Given the description of an element on the screen output the (x, y) to click on. 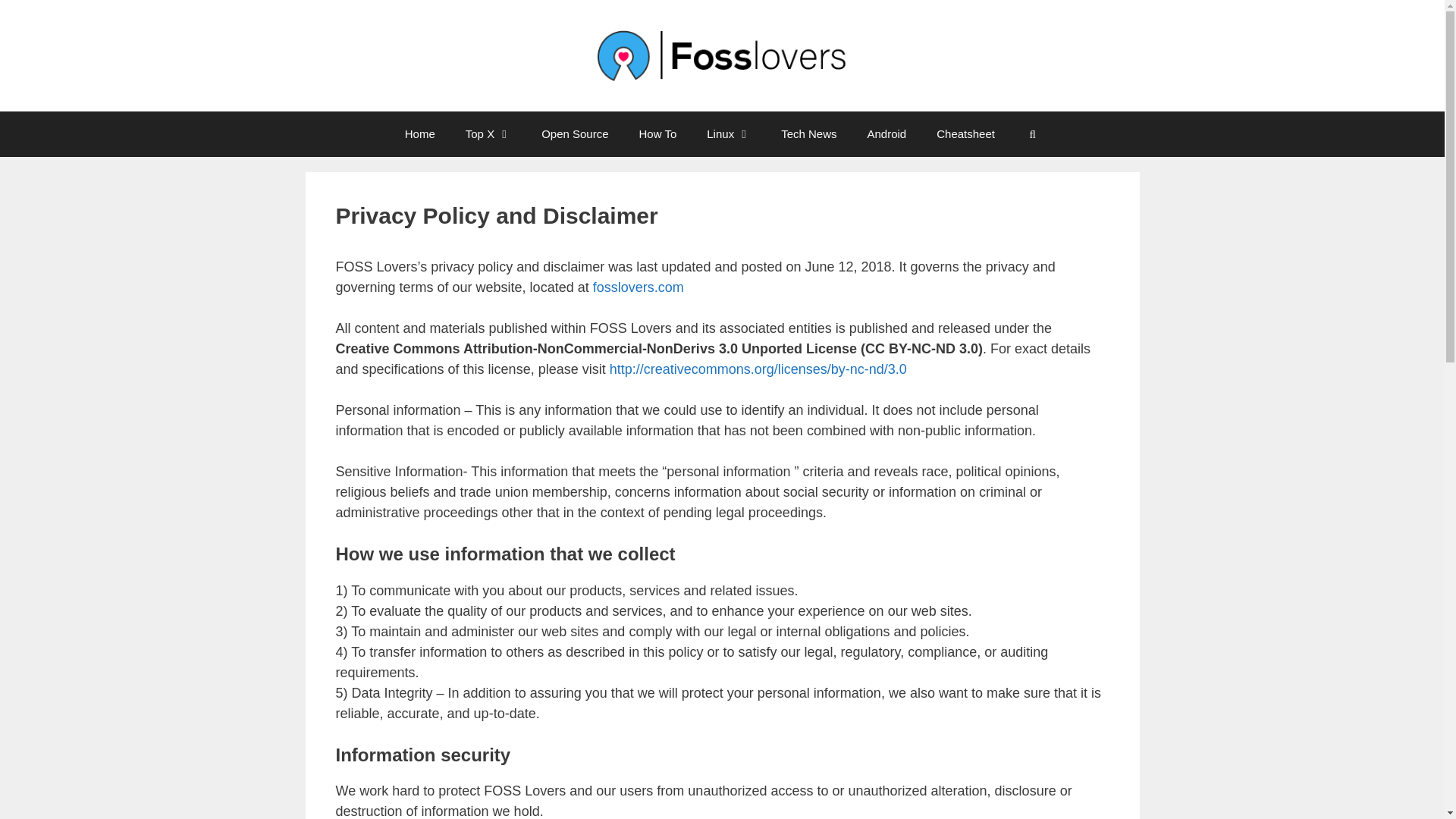
Linux (728, 134)
Home (419, 134)
Open Source (574, 134)
fosslovers.com (638, 287)
Tech News (808, 134)
How To (658, 134)
Cheatsheet (965, 134)
Top X (487, 134)
Android (886, 134)
